Given the description of an element on the screen output the (x, y) to click on. 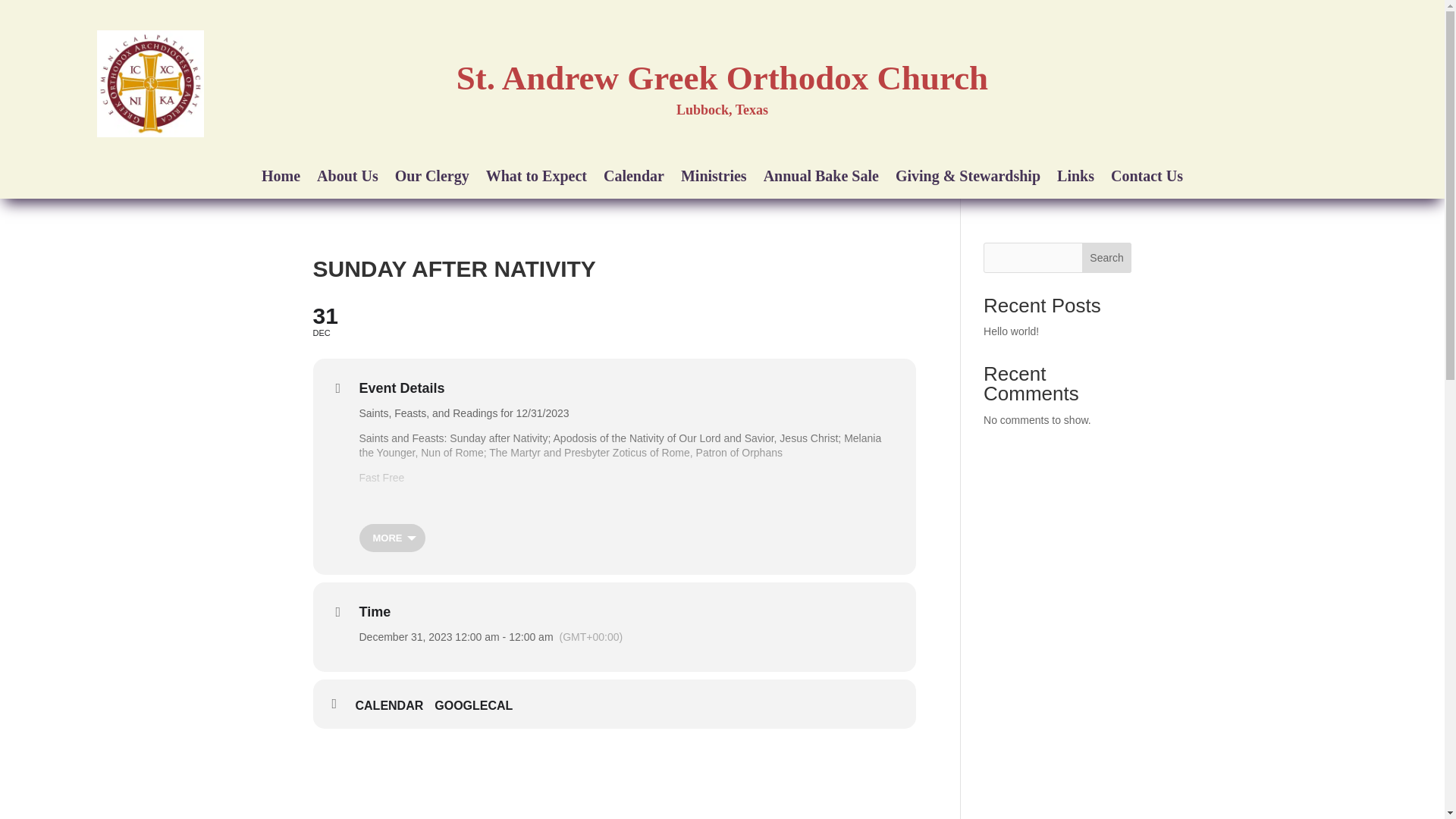
CALENDAR (394, 705)
Annual Bake Sale (820, 178)
Add to google calendar (478, 705)
What to Expect (536, 178)
Search (1106, 257)
Our Clergy (431, 178)
Links (1075, 178)
Ministries (713, 178)
Hello world! (1011, 331)
Contact Us (1146, 178)
About Us (347, 178)
Calendar (633, 178)
Home (614, 320)
GOOGLECAL (280, 178)
